Given the description of an element on the screen output the (x, y) to click on. 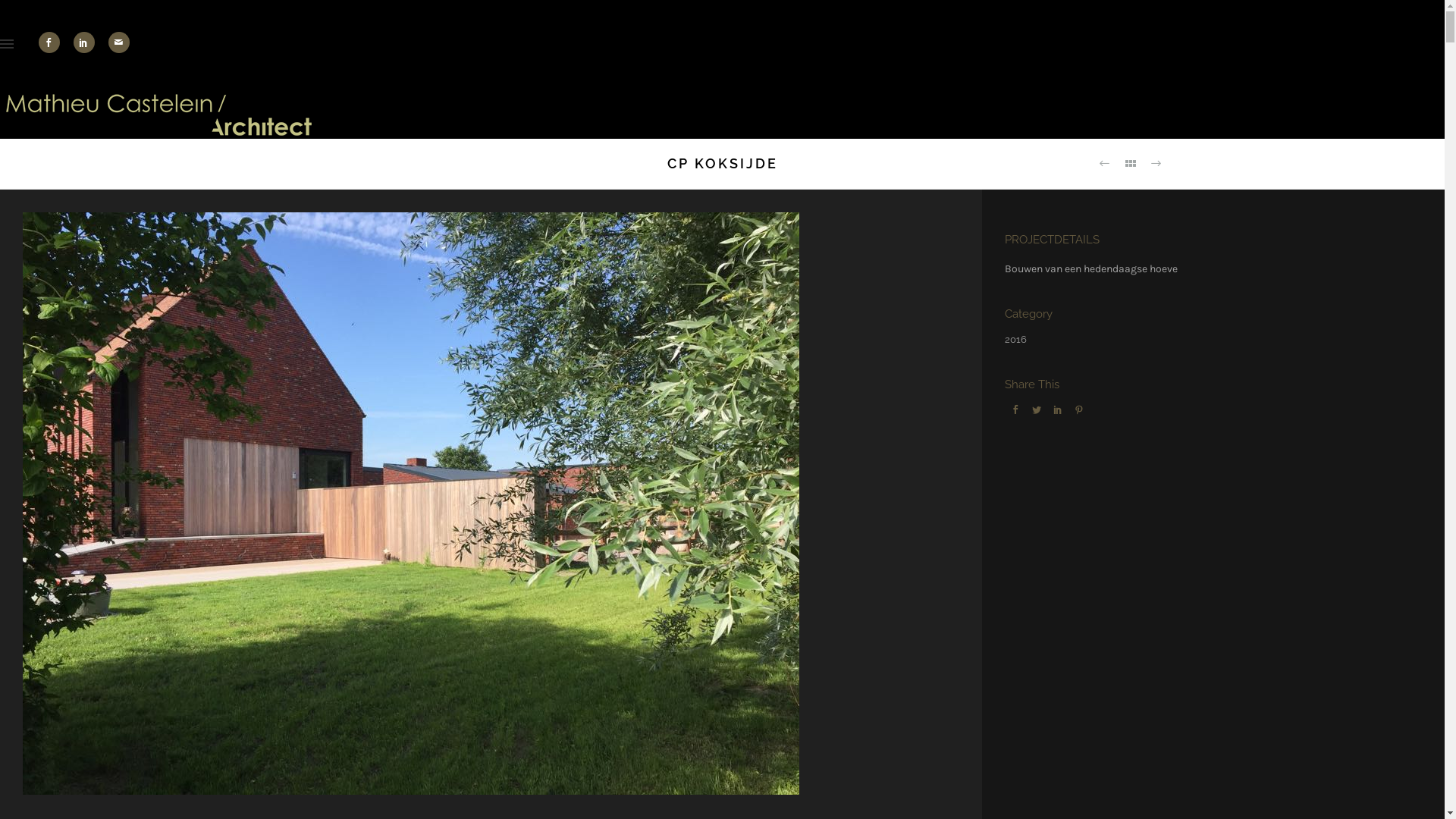
2016 Element type: text (1015, 339)
Hamburger Menu Controller Element type: hover (6, 45)
